Given the description of an element on the screen output the (x, y) to click on. 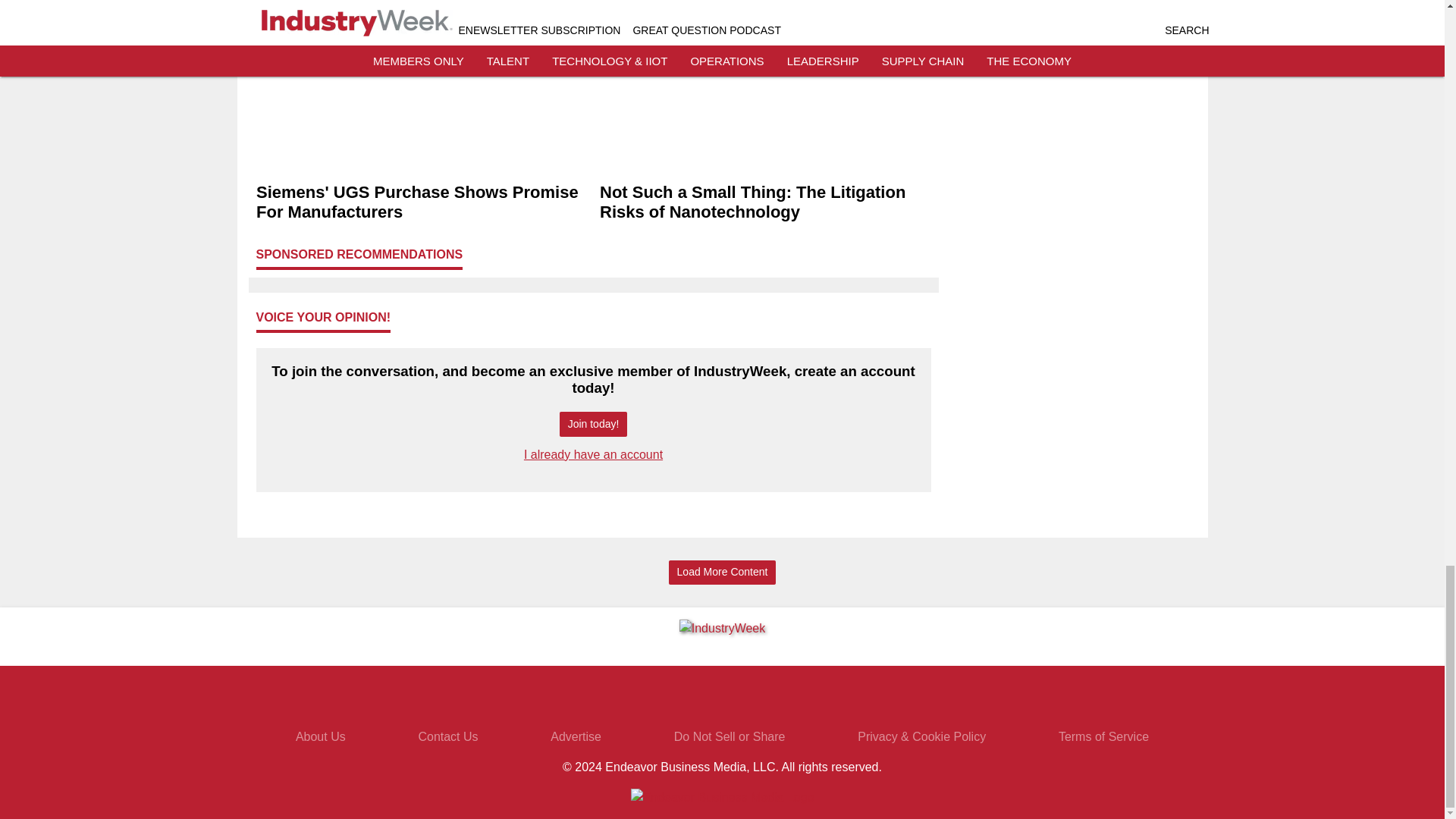
Siemens' UGS Purchase Shows Promise For Manufacturers (422, 201)
Join today! (593, 423)
I already have an account (593, 454)
